Given the description of an element on the screen output the (x, y) to click on. 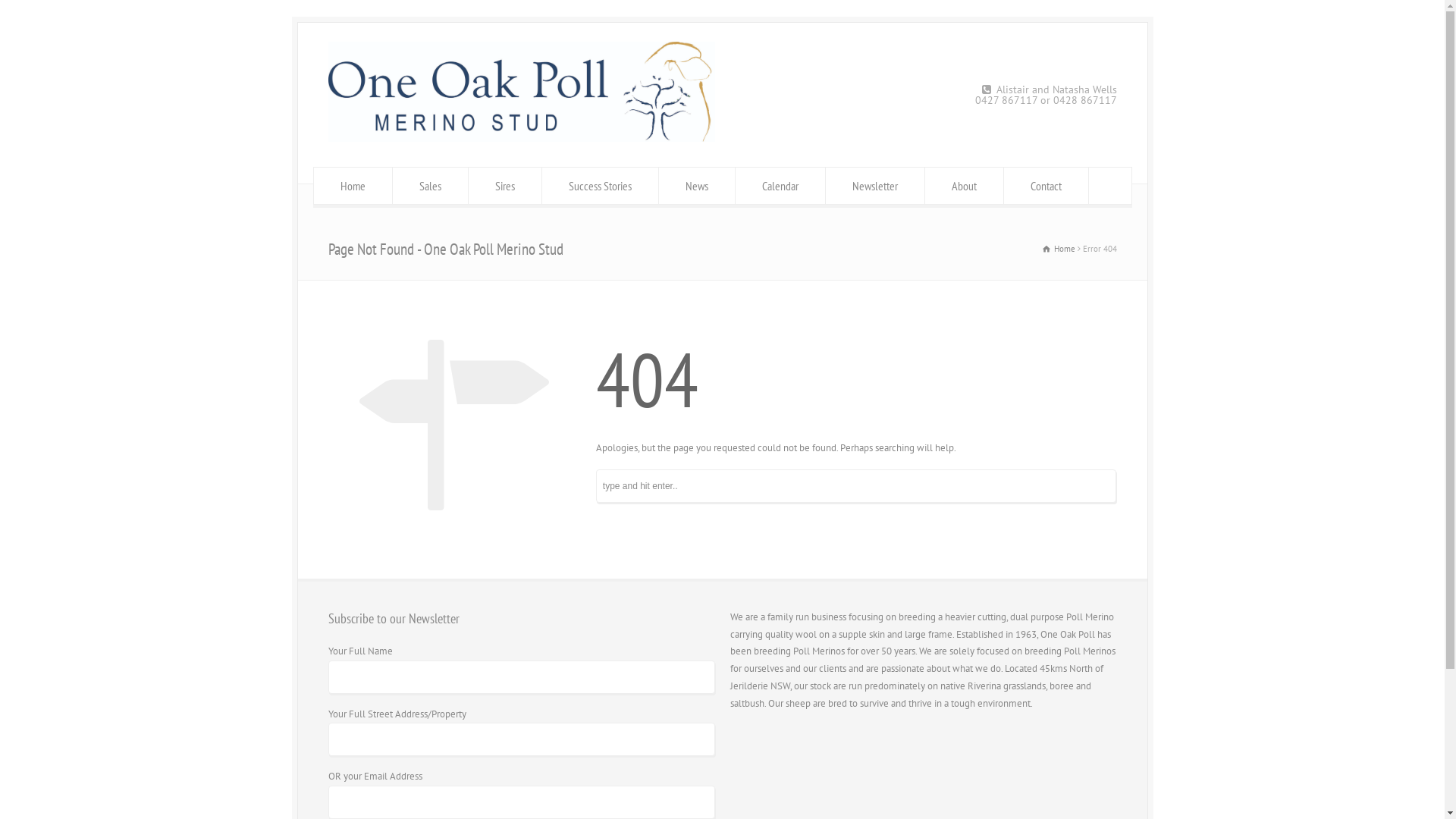
Home Element type: text (352, 185)
Newsletter Element type: text (874, 185)
About Element type: text (964, 185)
Sires Element type: text (504, 185)
One Oak Poll Merino Stud Element type: hover (520, 137)
Success Stories Element type: text (600, 185)
Sales Element type: text (429, 185)
Home Element type: text (1057, 248)
Contact Element type: text (1046, 185)
Calendar Element type: text (780, 185)
News Element type: text (696, 185)
